Given the description of an element on the screen output the (x, y) to click on. 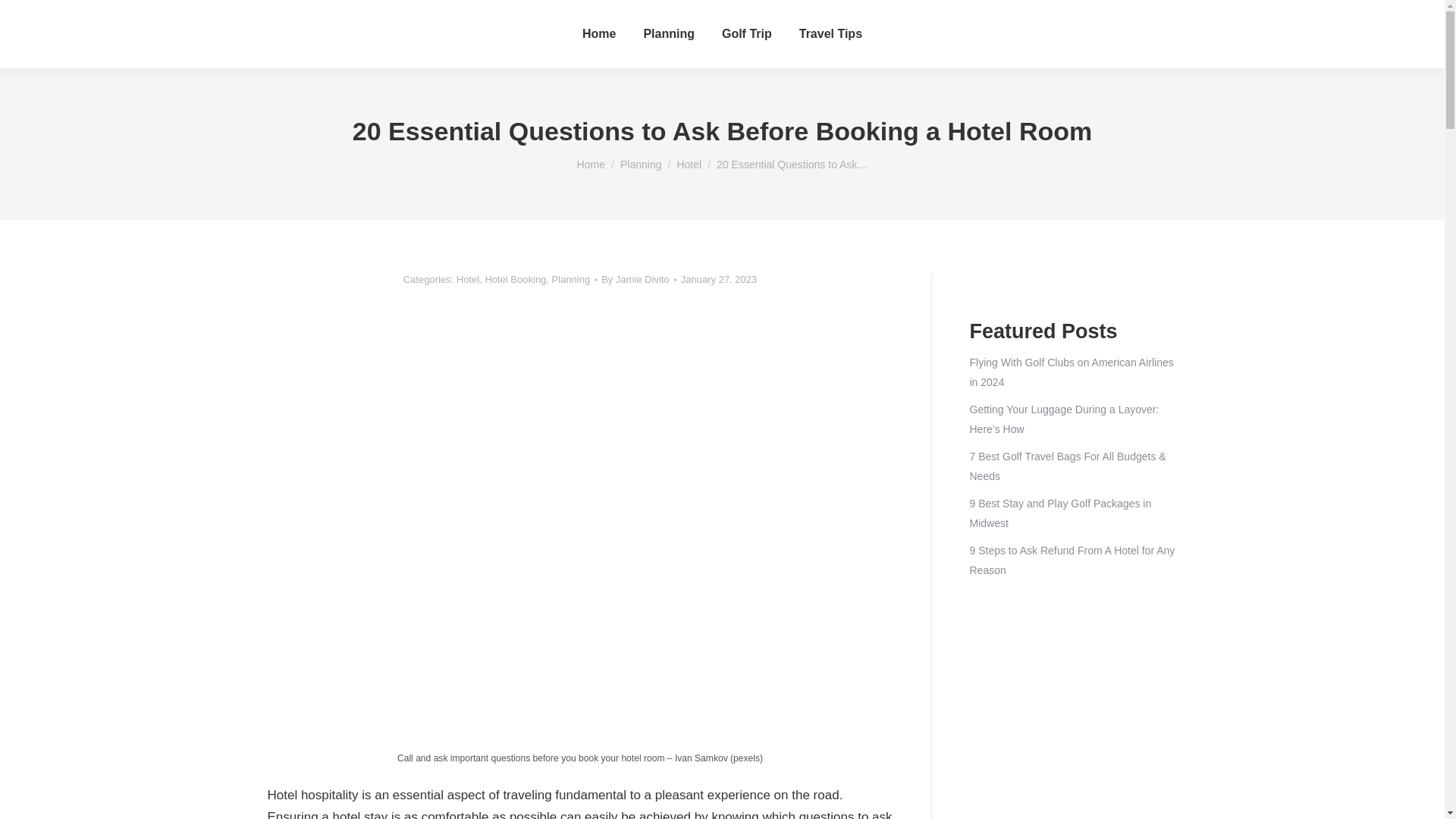
Home (590, 164)
Travel Tips (830, 33)
Planning (641, 164)
Home (598, 33)
Planning (641, 164)
Golf Trip (746, 33)
Hotel (689, 164)
Hotel (689, 164)
Planning (668, 33)
Home (590, 164)
